Given the description of an element on the screen output the (x, y) to click on. 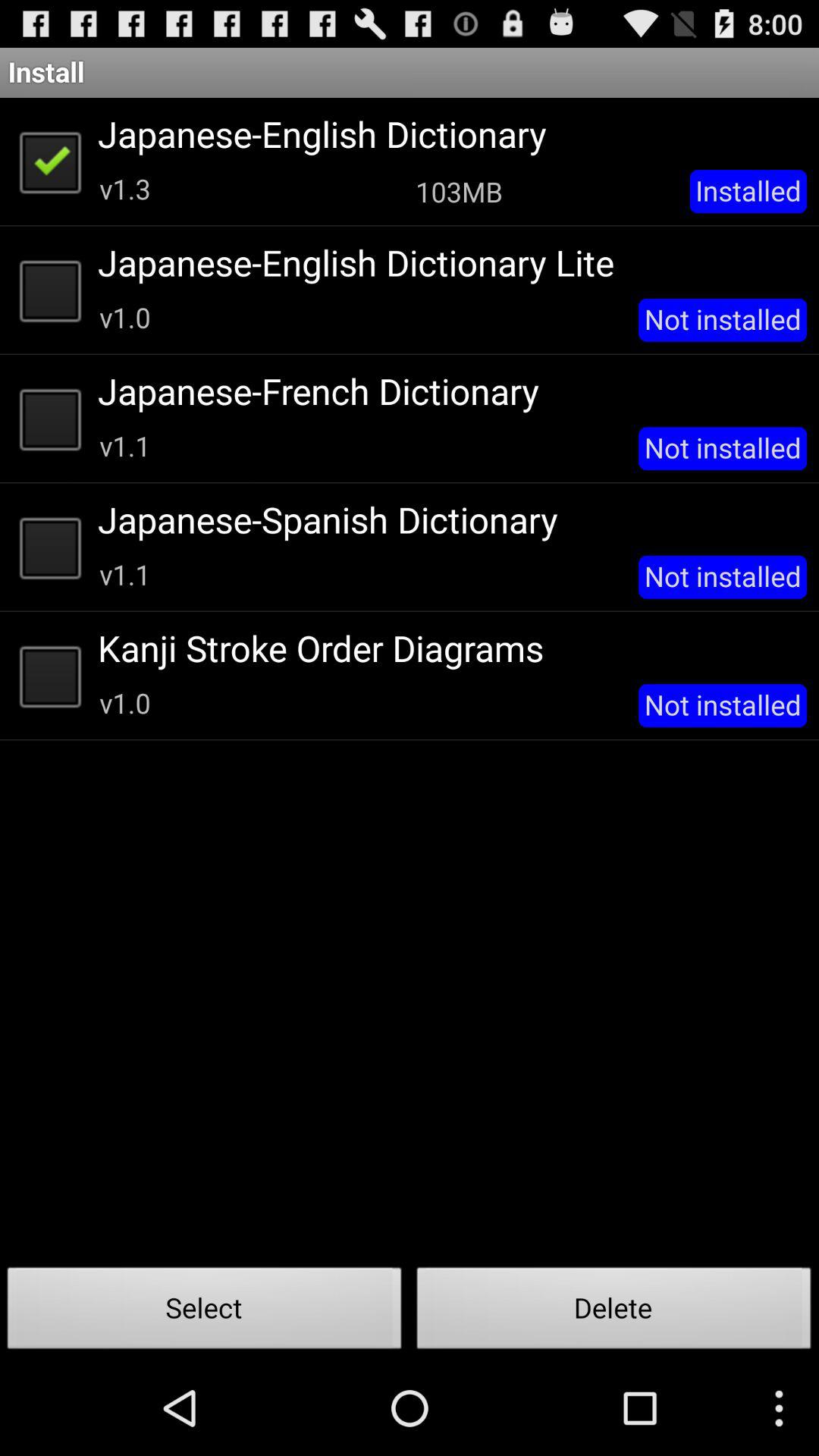
launch 103mb app (458, 191)
